Given the description of an element on the screen output the (x, y) to click on. 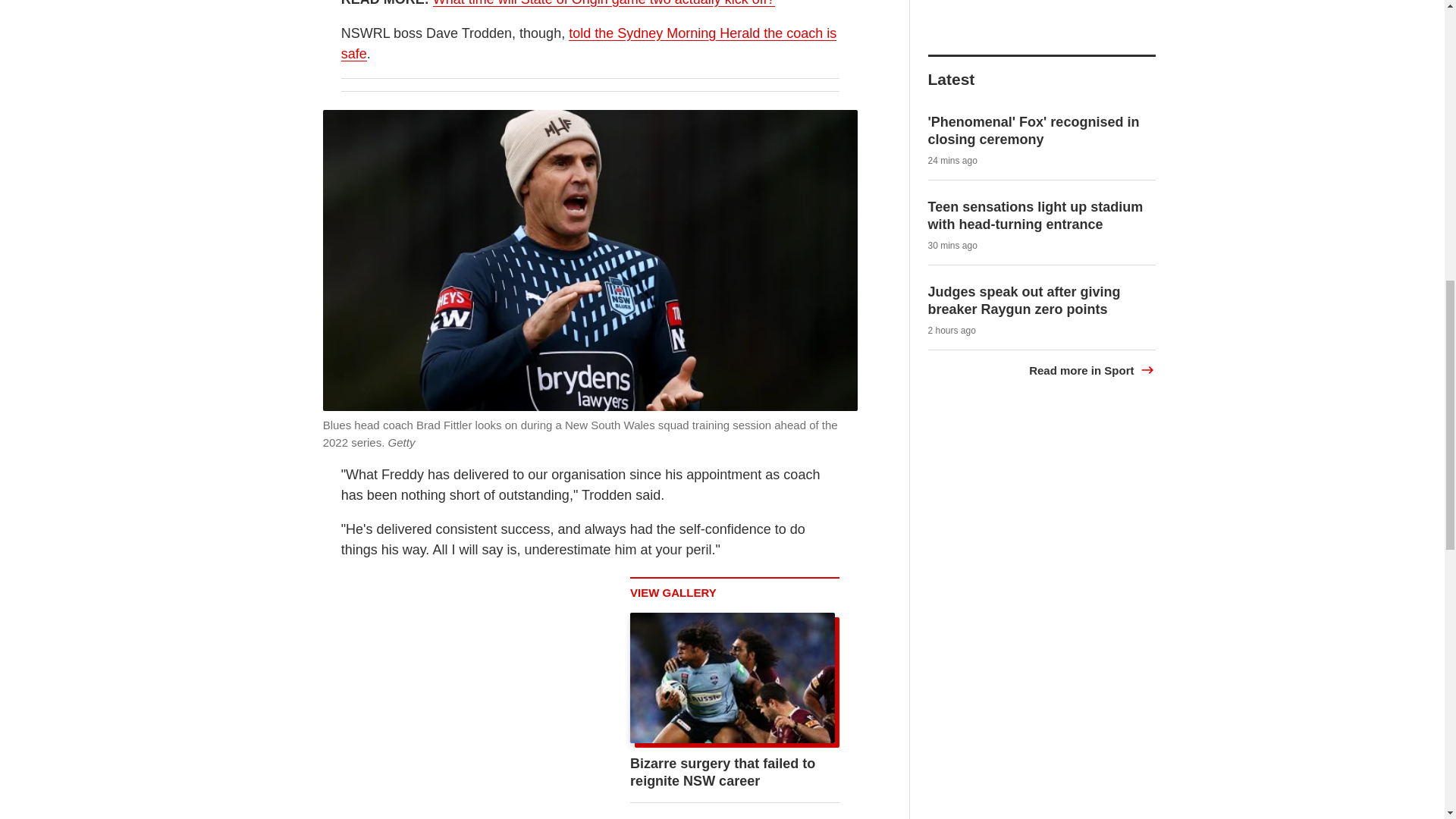
told the Sydney Morning Herald the coach is safe (588, 43)
What time will State of Origin game two actually kick off? (603, 3)
Bizarre surgery that failed to reignite NSW career (722, 771)
